Given the description of an element on the screen output the (x, y) to click on. 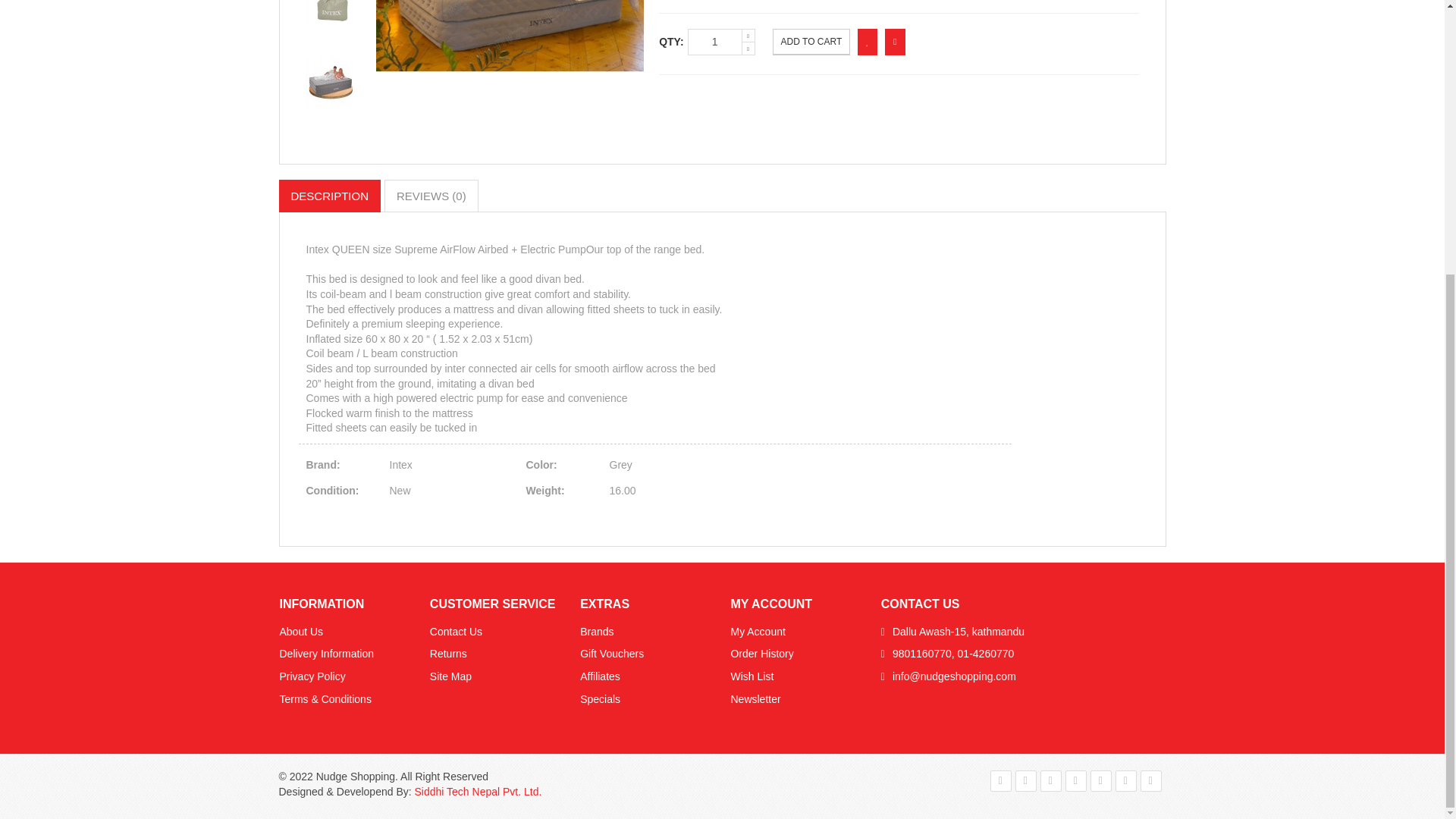
1 (714, 41)
ADD TO CART (811, 41)
